Given the description of an element on the screen output the (x, y) to click on. 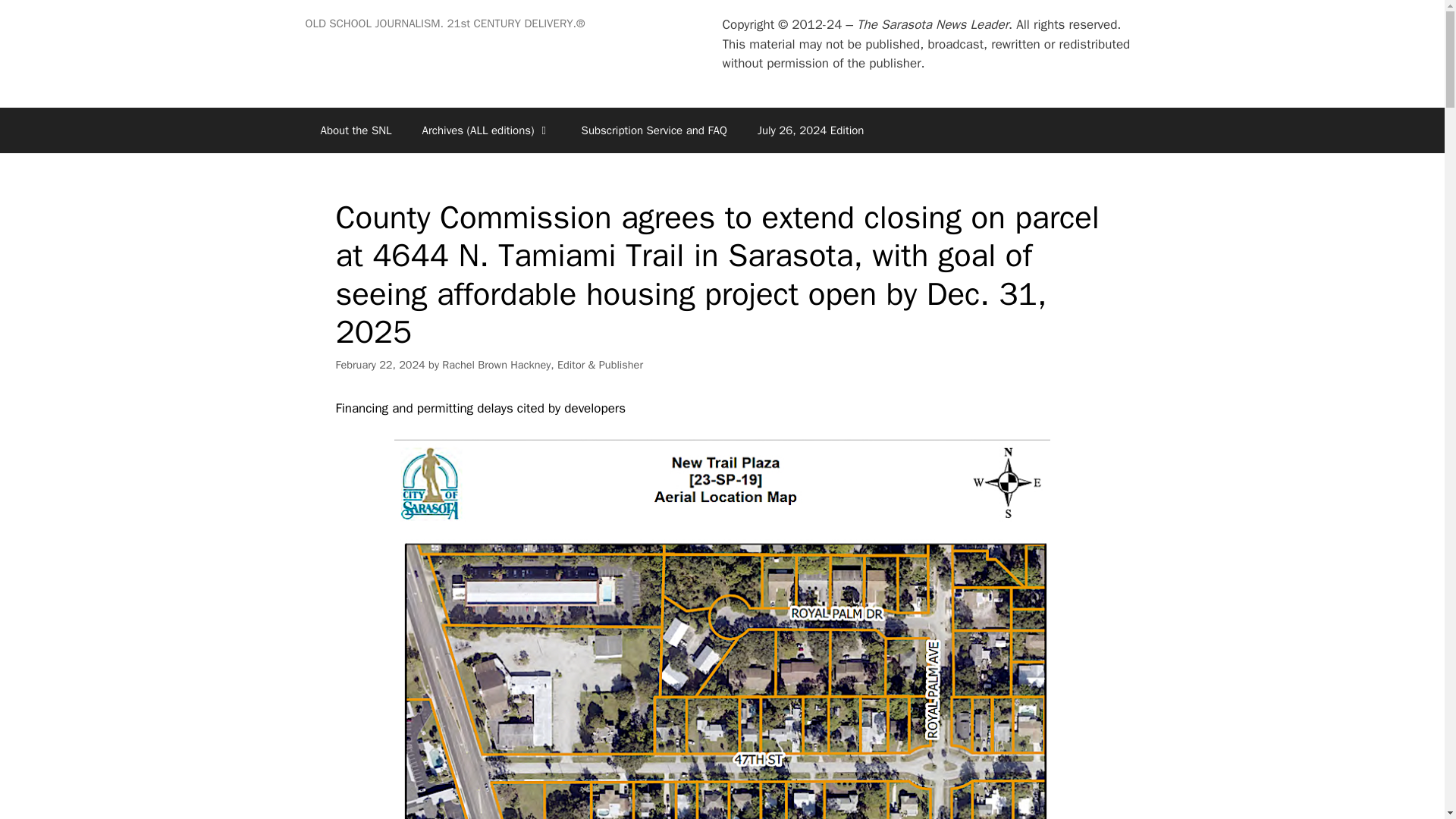
About the SNL (355, 130)
